Given the description of an element on the screen output the (x, y) to click on. 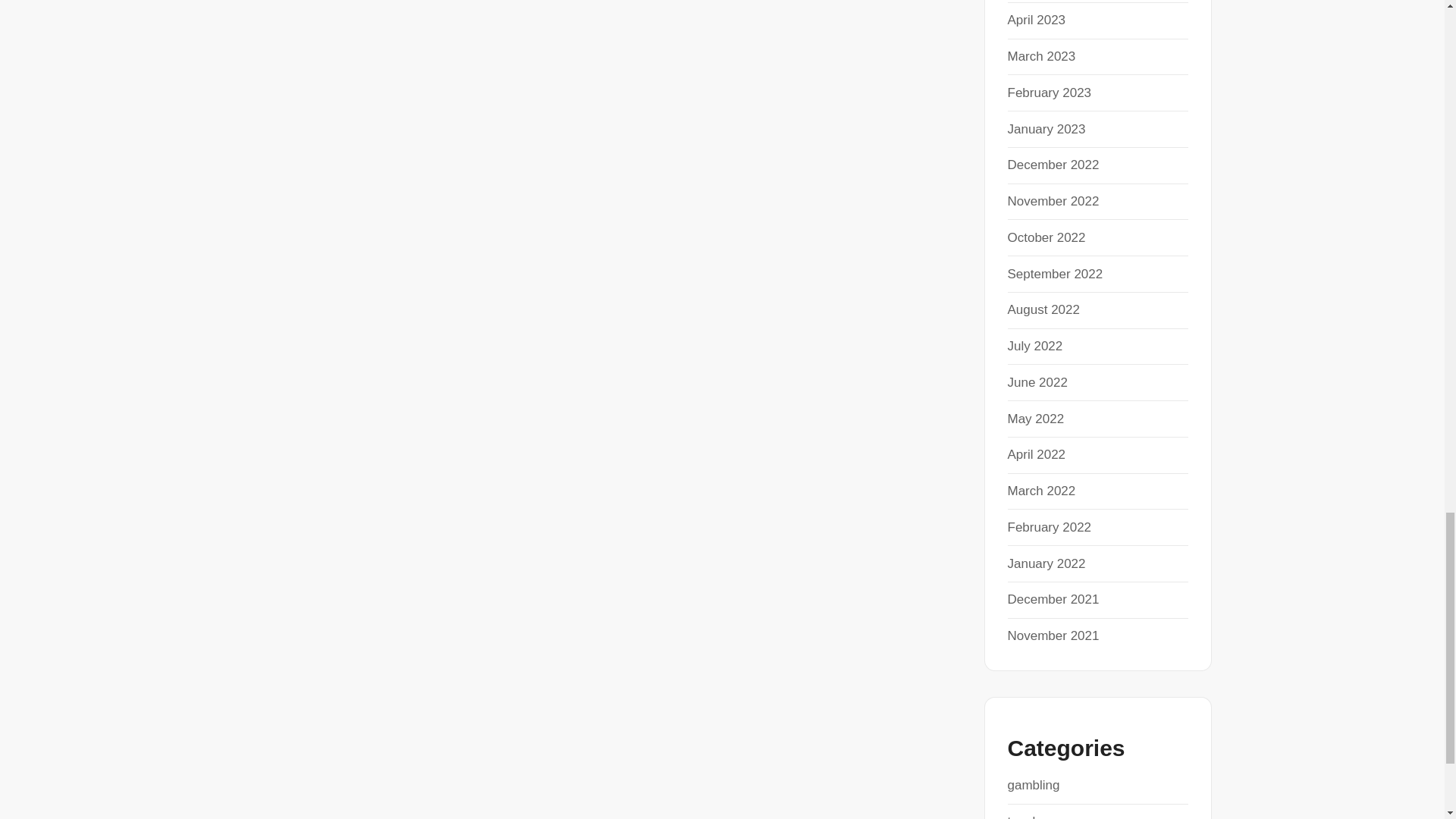
March 2023 (1041, 56)
April 2023 (1036, 20)
